Given the description of an element on the screen output the (x, y) to click on. 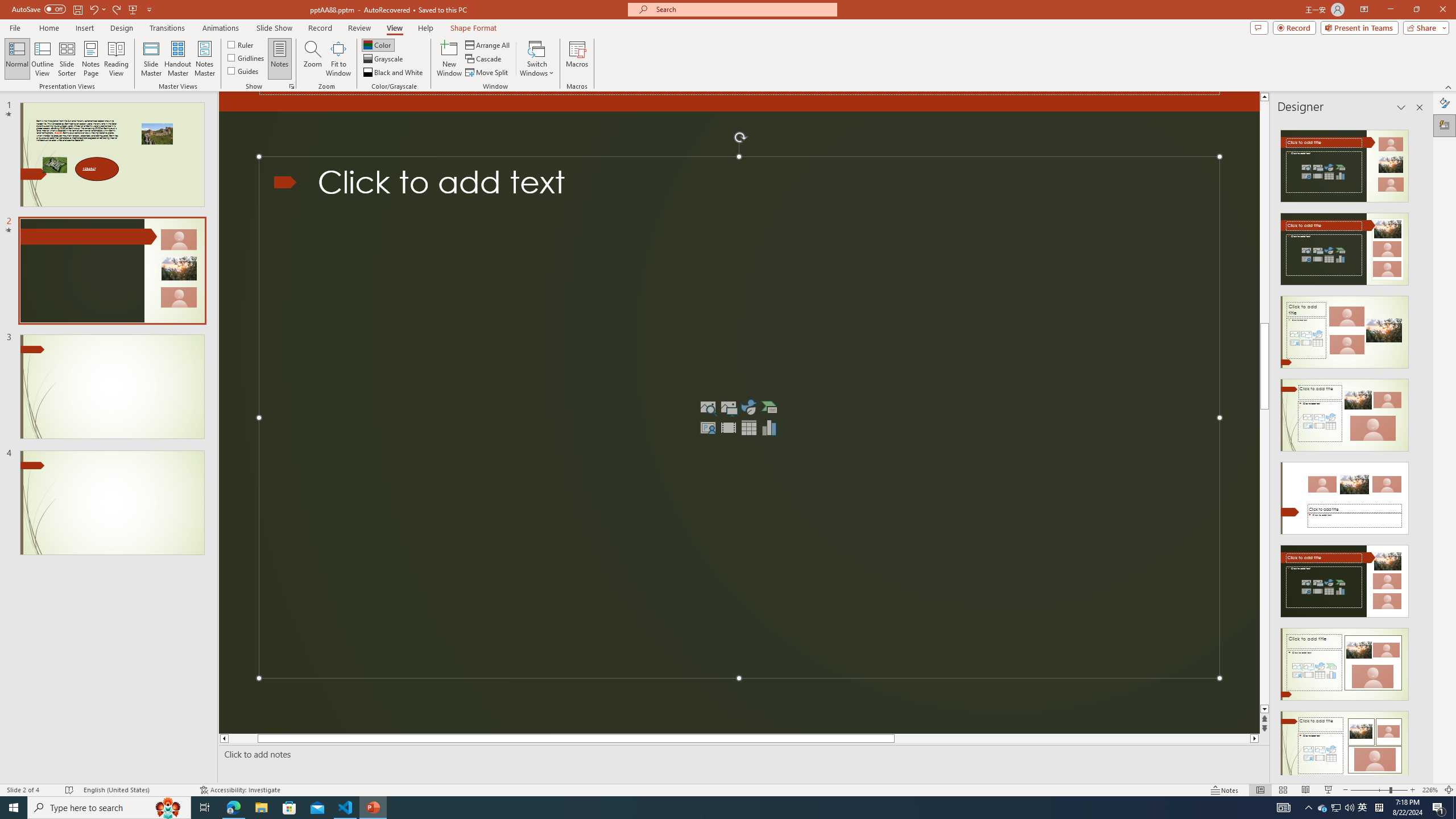
Format Background (1444, 102)
Gridlines (246, 56)
Arrange All (488, 44)
Ruler (241, 44)
Zoom... (312, 58)
